Given the description of an element on the screen output the (x, y) to click on. 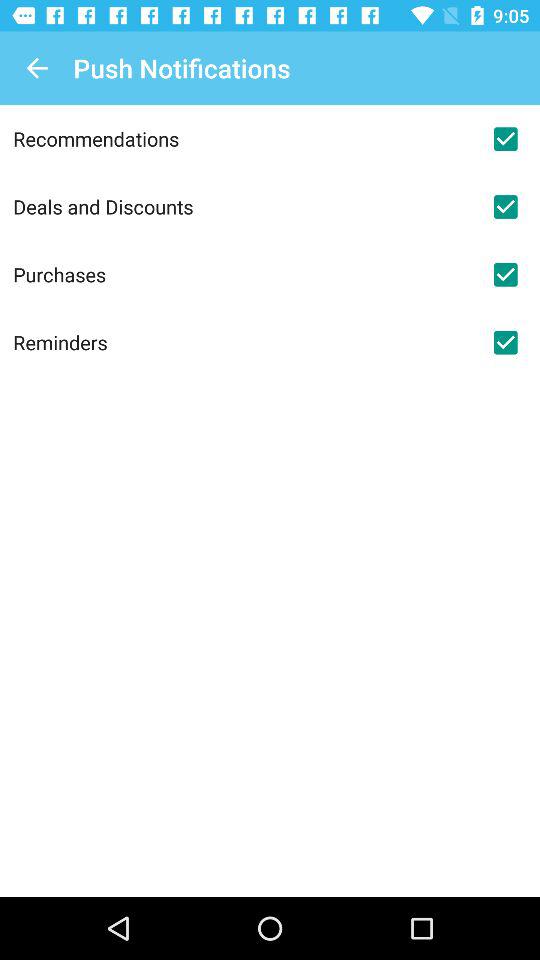
turn on the reminders (242, 342)
